Given the description of an element on the screen output the (x, y) to click on. 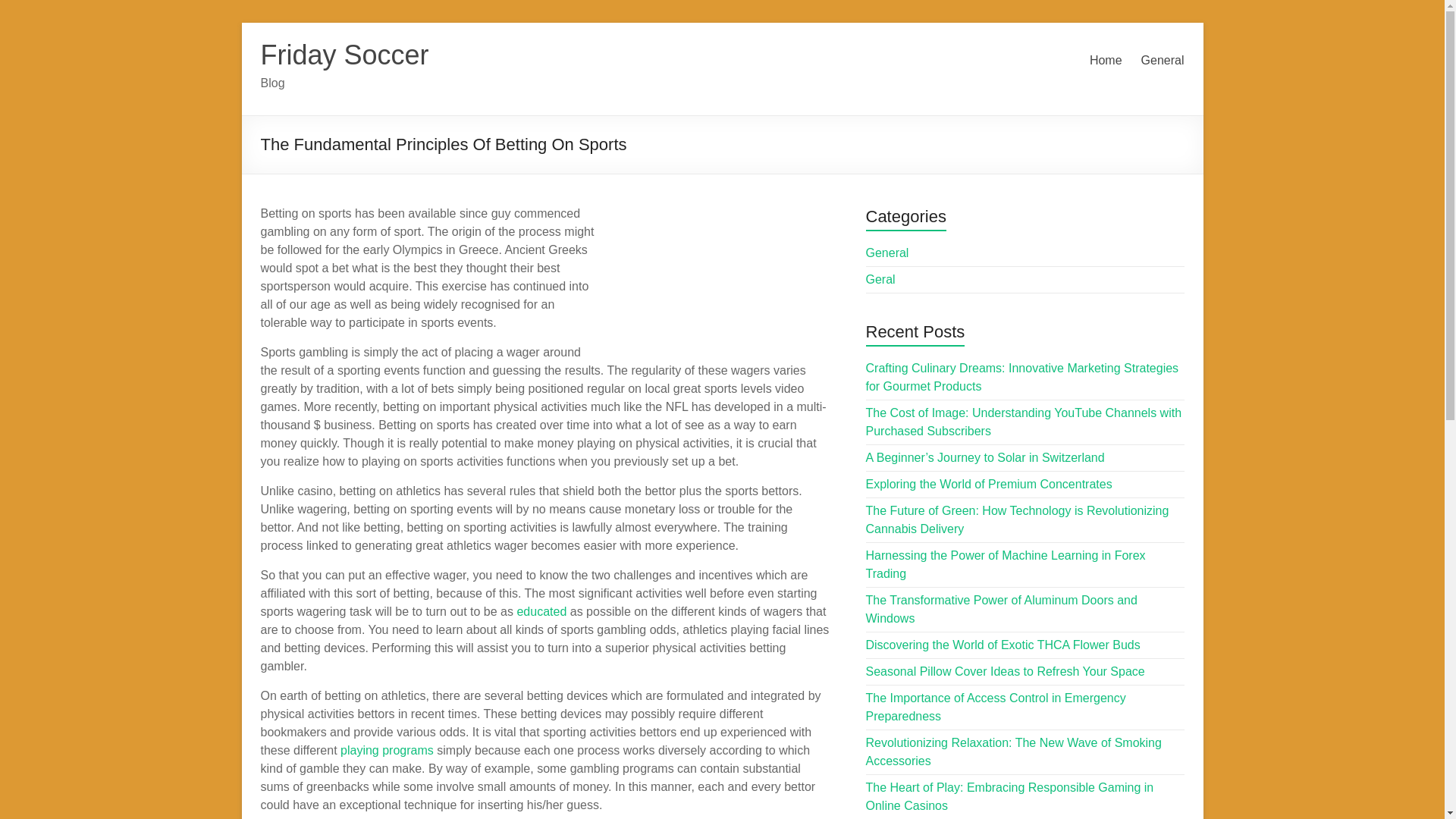
General (1163, 60)
Discovering the World of Exotic THCA Flower Buds (1003, 644)
The Importance of Access Control in Emergency Preparedness (995, 706)
Seasonal Pillow Cover Ideas to Refresh Your Space (1005, 671)
General (887, 252)
The Transformative Power of Aluminum Doors and Windows (1001, 608)
